Given the description of an element on the screen output the (x, y) to click on. 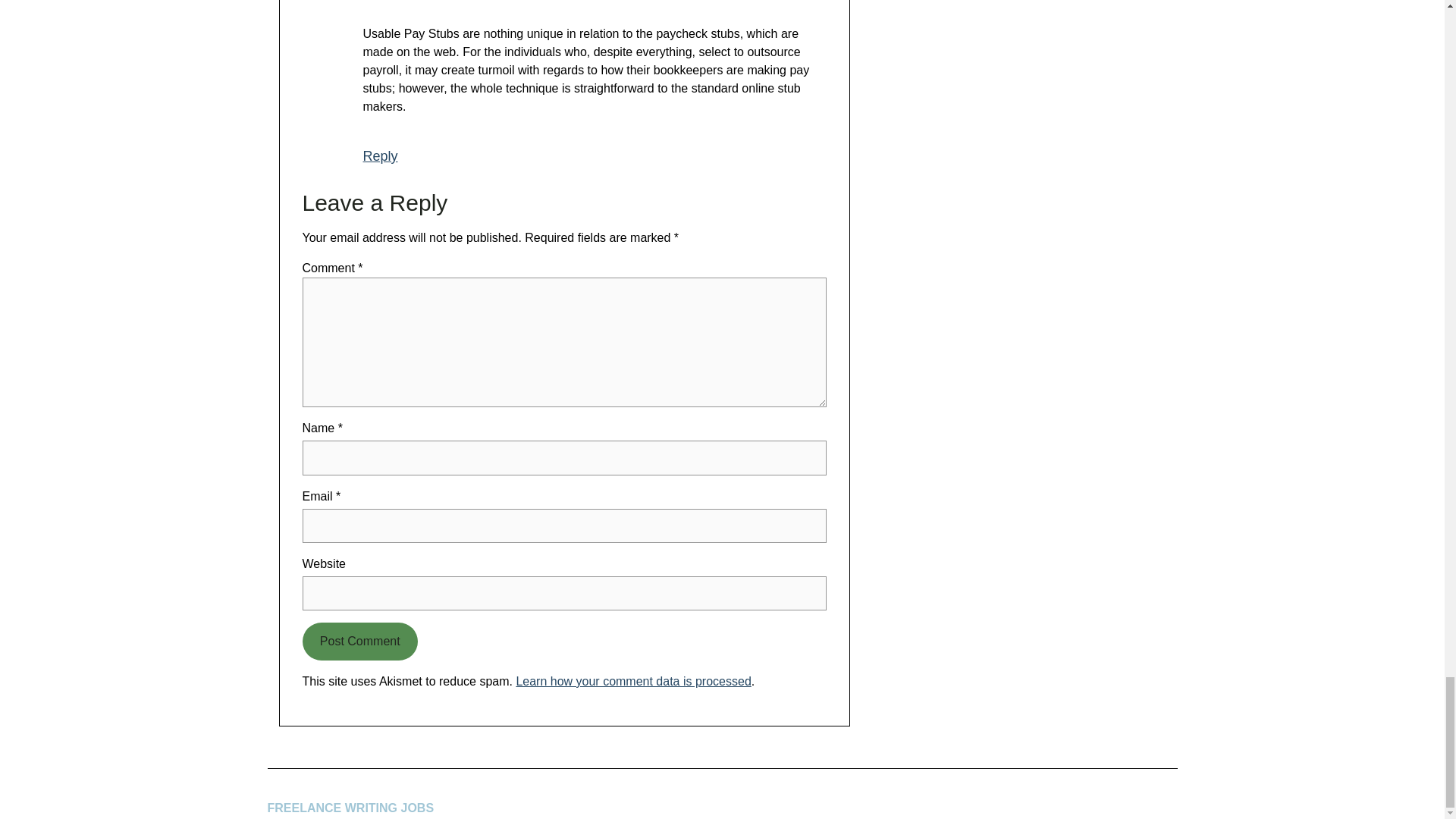
Reply (379, 155)
Learn how your comment data is processed (633, 680)
Post Comment (358, 641)
Post Comment (358, 641)
